Given the description of an element on the screen output the (x, y) to click on. 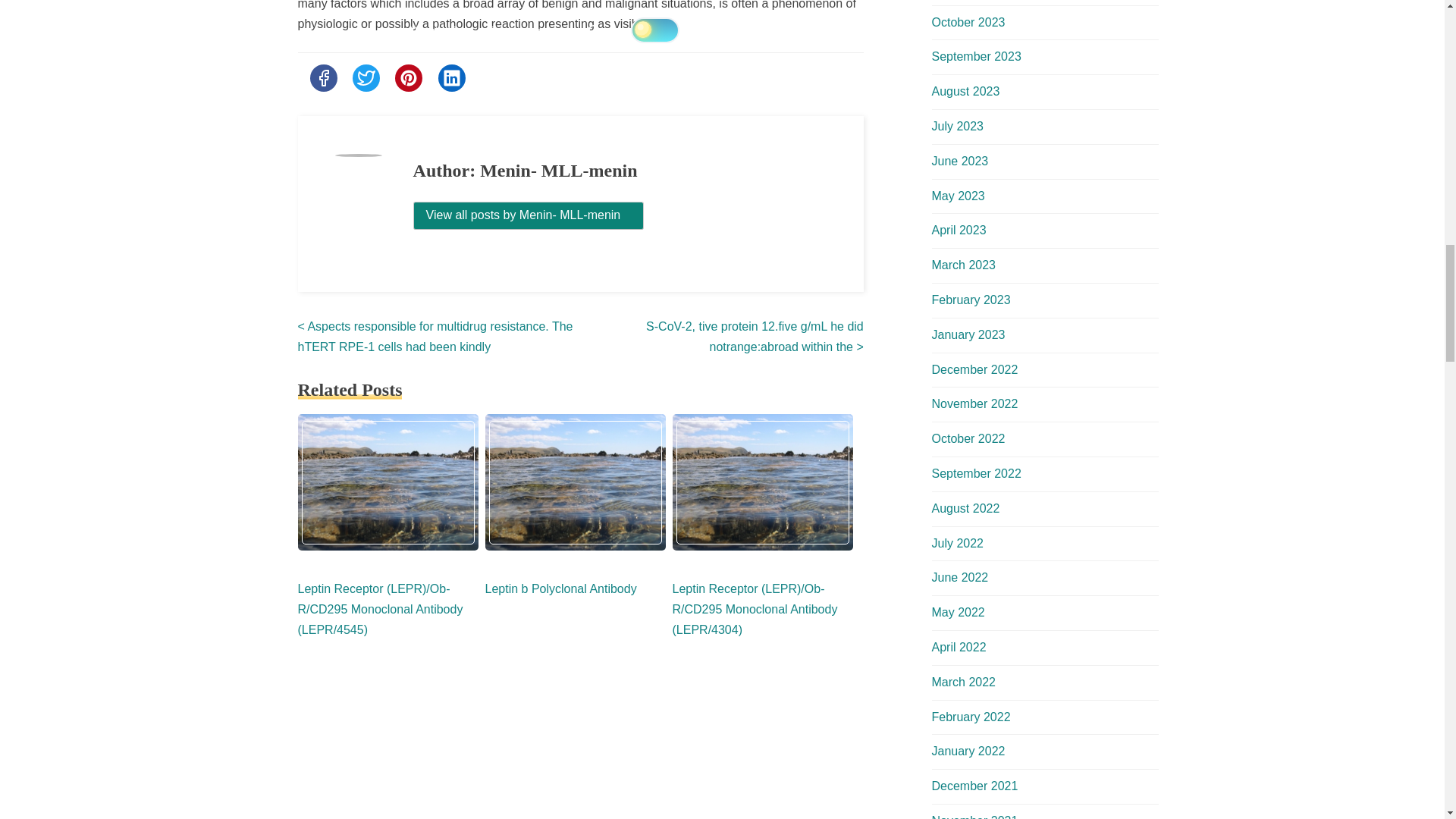
View all posts by Menin- MLL-menin (529, 215)
Share this post on Pinterest (408, 77)
Share this post on Linkedin (451, 77)
Leptin b Polyclonal Antibody (560, 588)
Share this post on Twitter (366, 77)
Share this post on Facebook (322, 77)
View all posts by Menin- MLL-menin (528, 214)
